Given the description of an element on the screen output the (x, y) to click on. 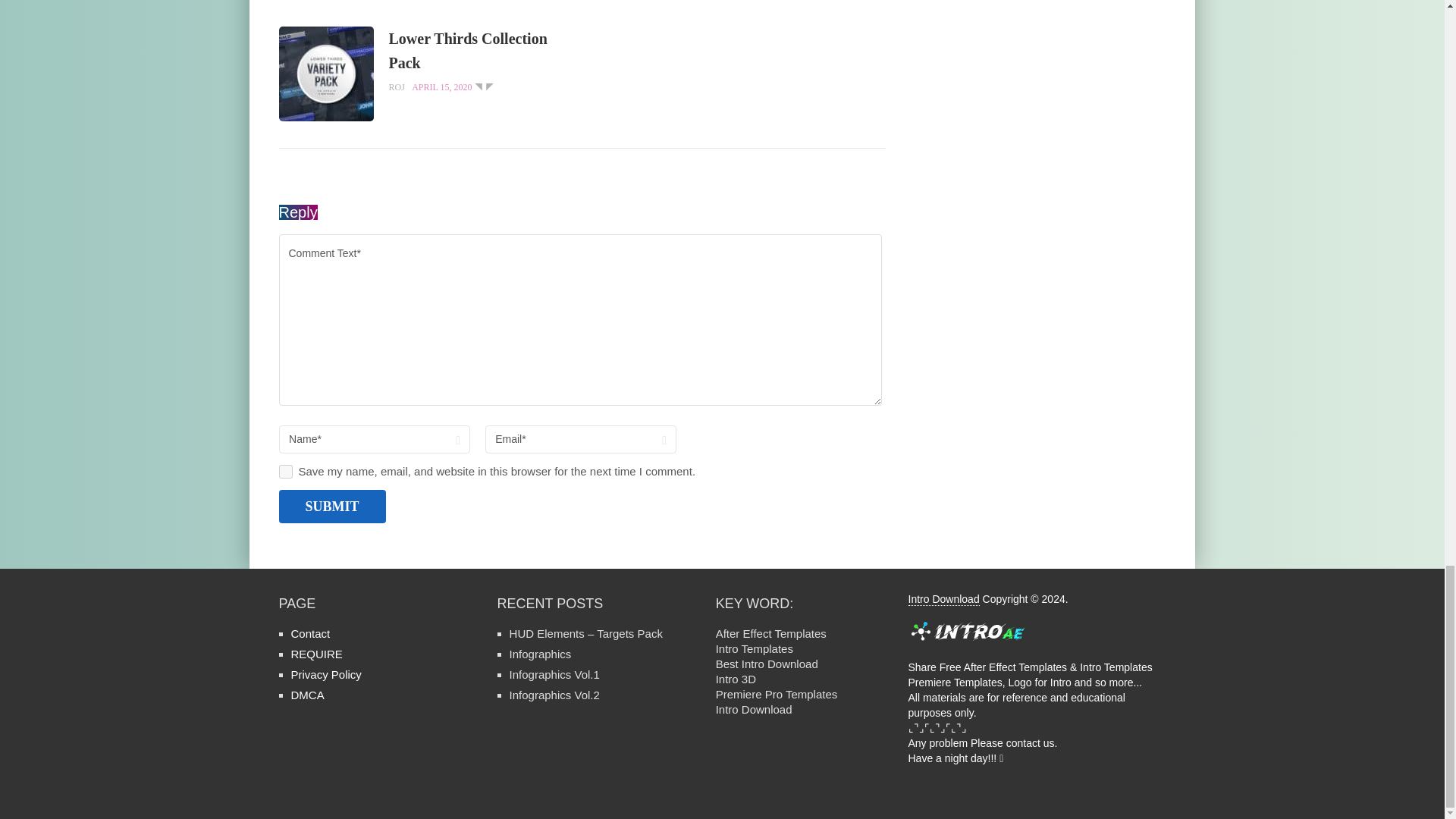
yes (285, 471)
Submit (332, 506)
